Given the description of an element on the screen output the (x, y) to click on. 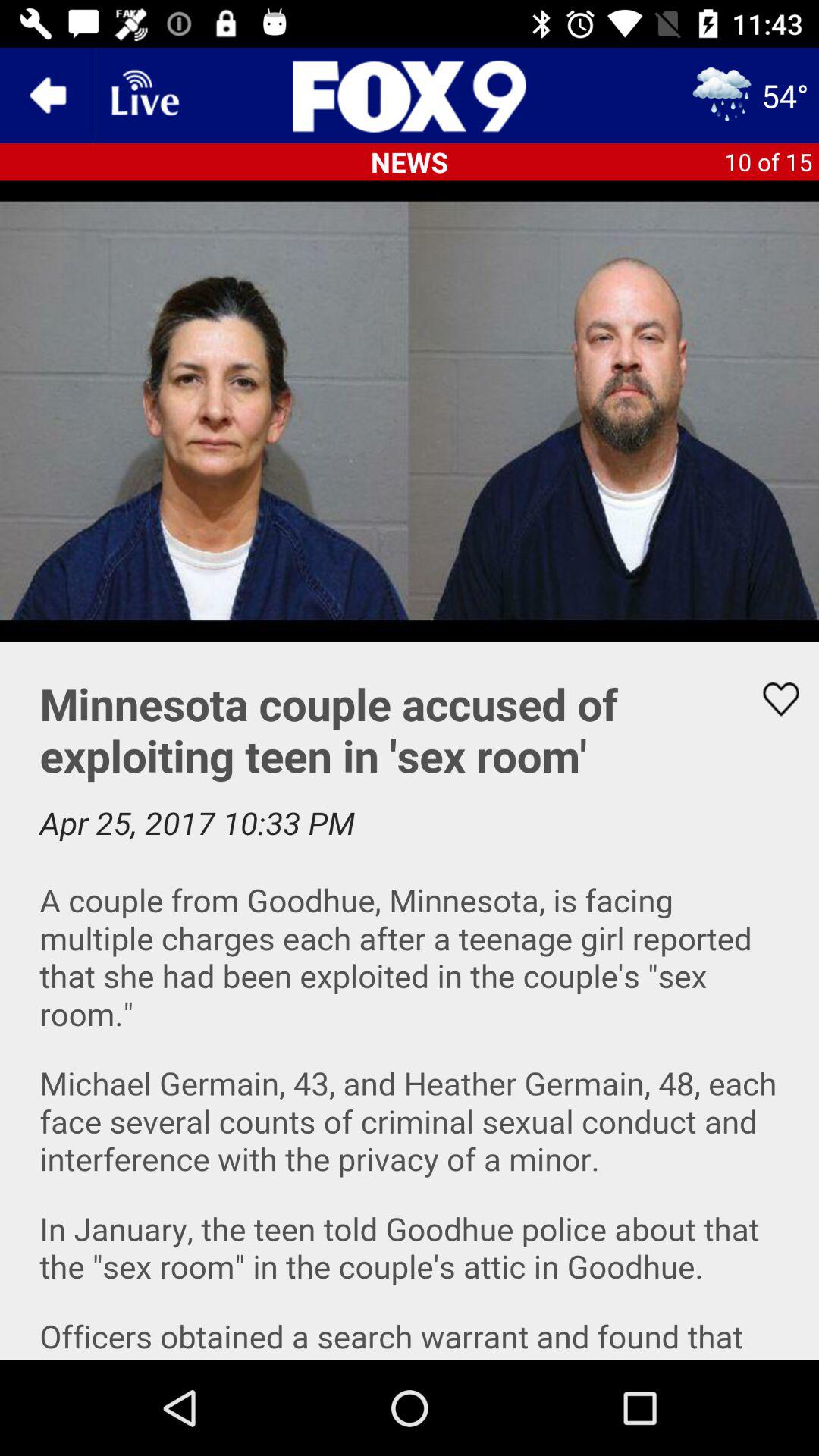
open full article (409, 1000)
